Given the description of an element on the screen output the (x, y) to click on. 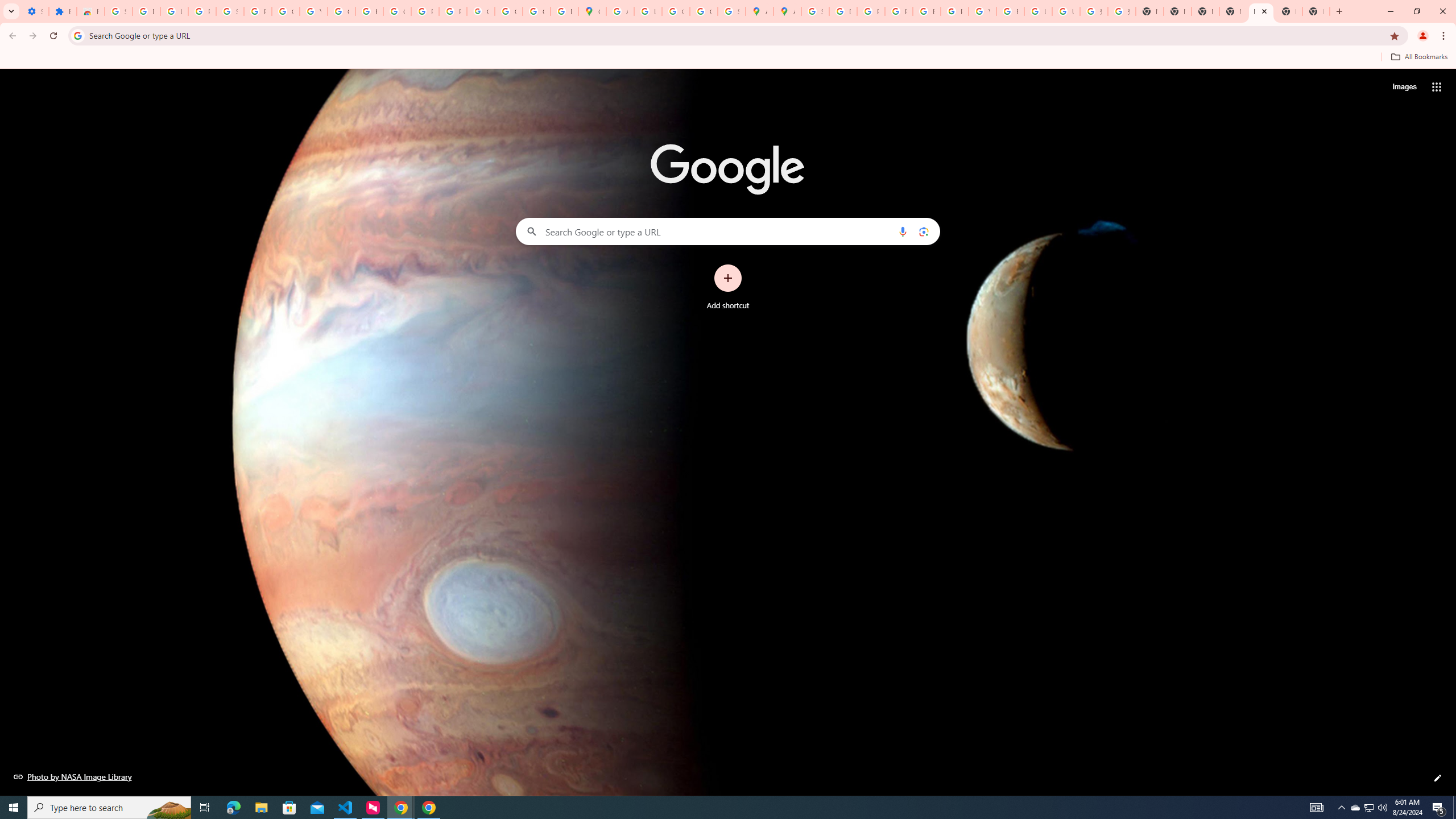
Privacy Help Center - Policies Help (870, 11)
https://scholar.google.com/ (369, 11)
Delete photos & videos - Computer - Google Photos Help (146, 11)
Safety in Our Products - Google Safety Center (731, 11)
Search Google or type a URL (727, 230)
